Given the description of an element on the screen output the (x, y) to click on. 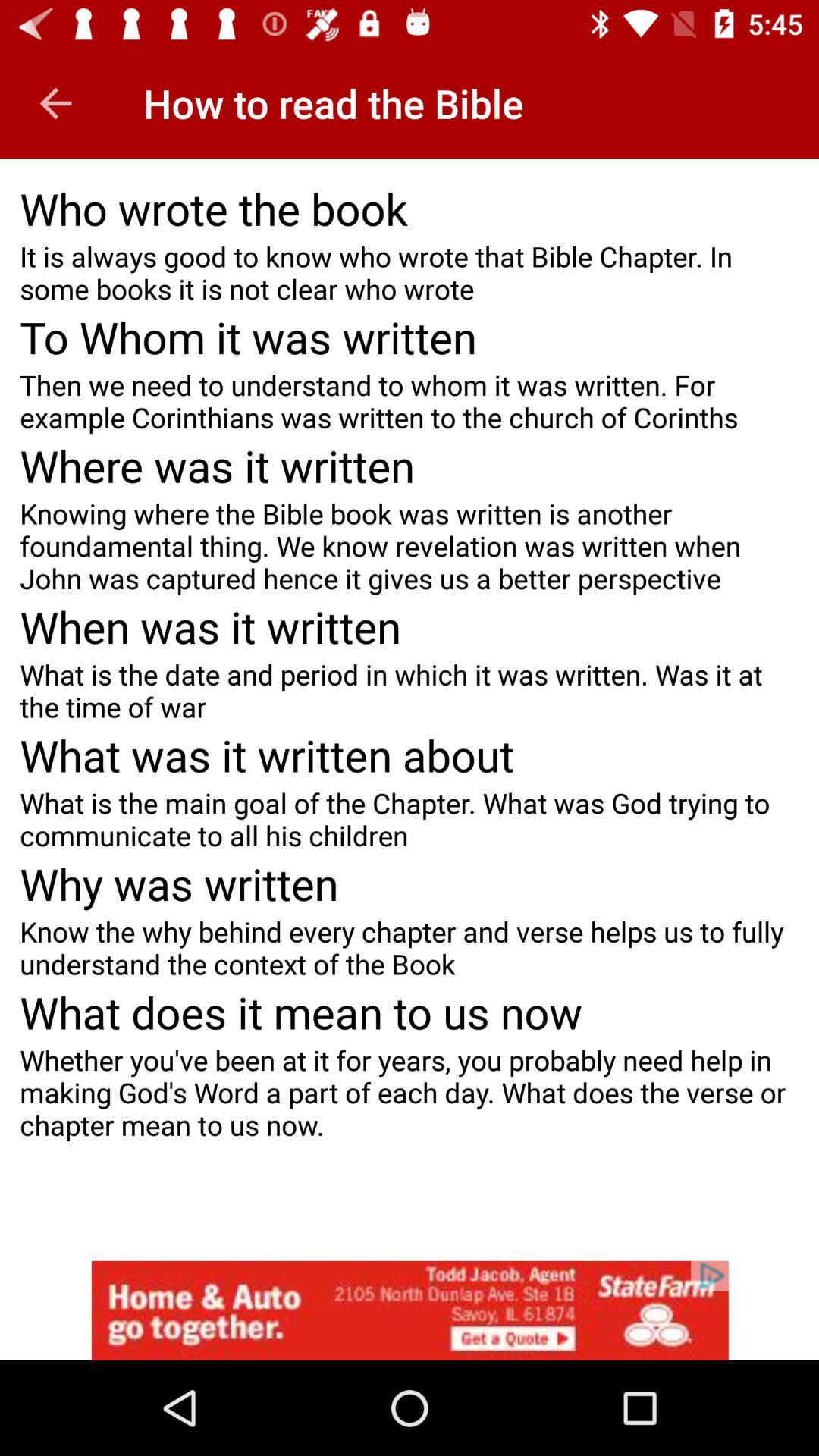
go back (55, 103)
